Given the description of an element on the screen output the (x, y) to click on. 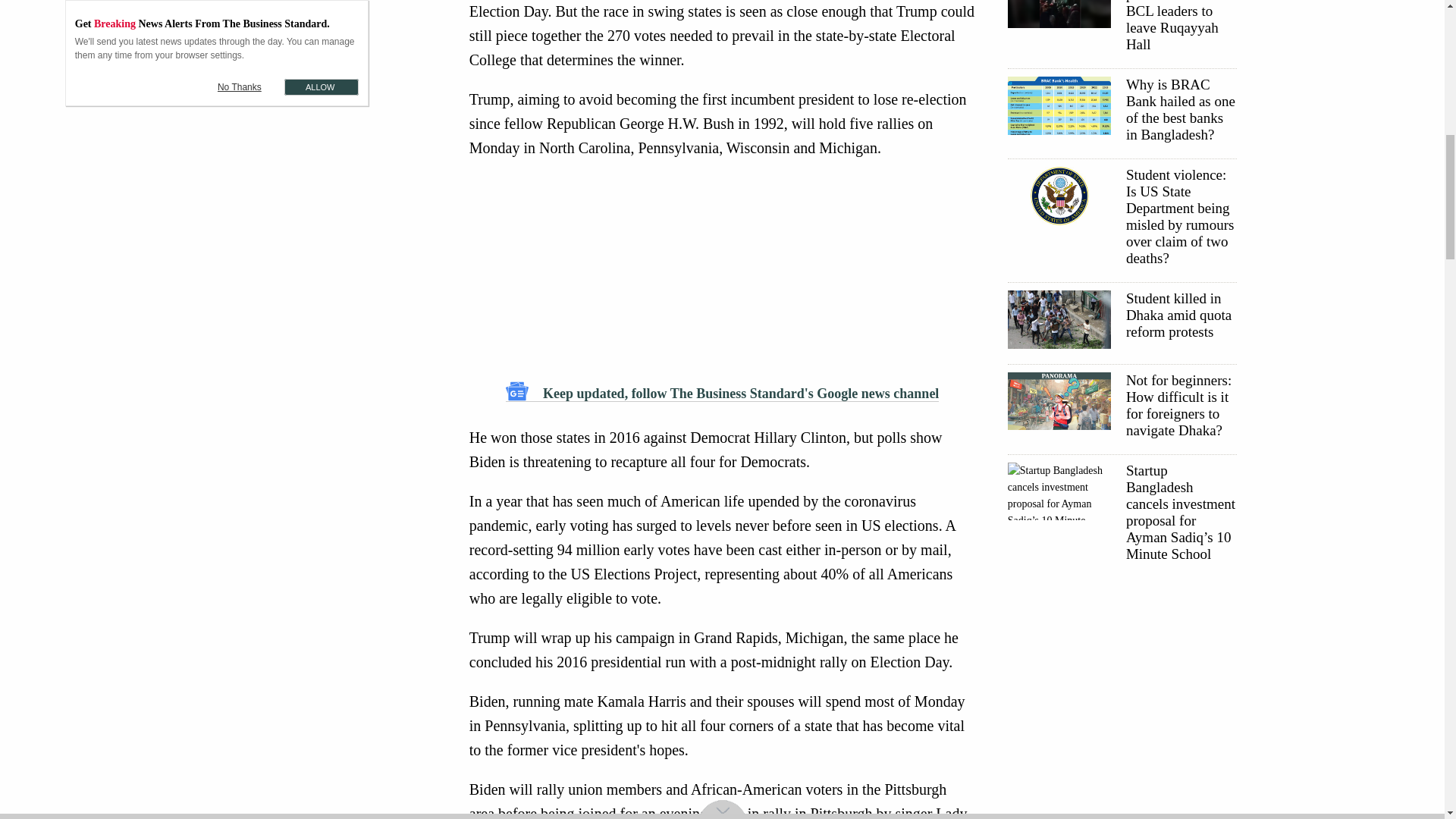
3rd party ad content (1120, 687)
3rd party ad content (721, 269)
3rd party ad content (324, 19)
